Given the description of an element on the screen output the (x, y) to click on. 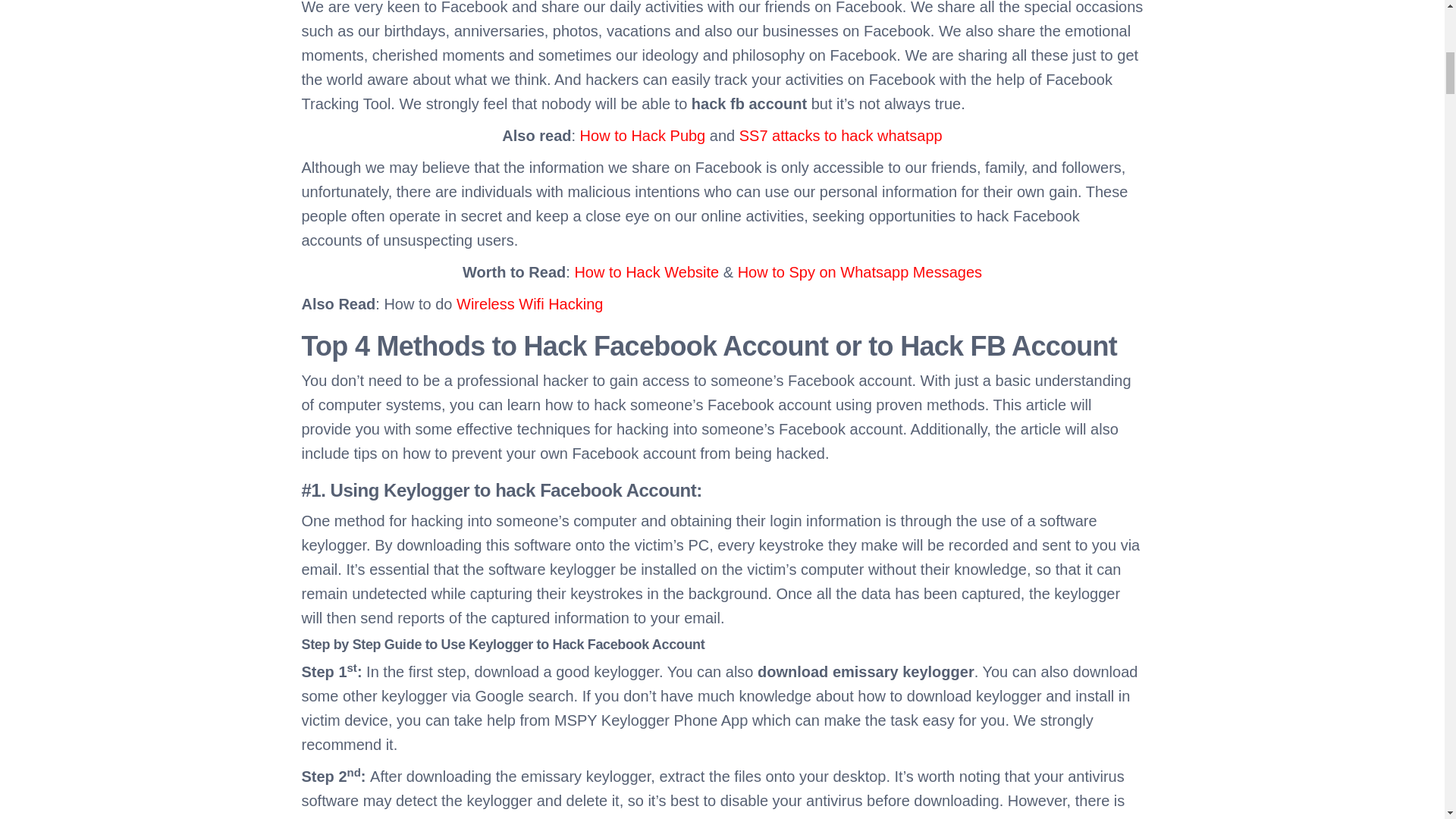
How to Hack Pubg (642, 135)
How to Hack Website (646, 271)
SS7 attacks to hack whatsapp (840, 135)
